Given the description of an element on the screen output the (x, y) to click on. 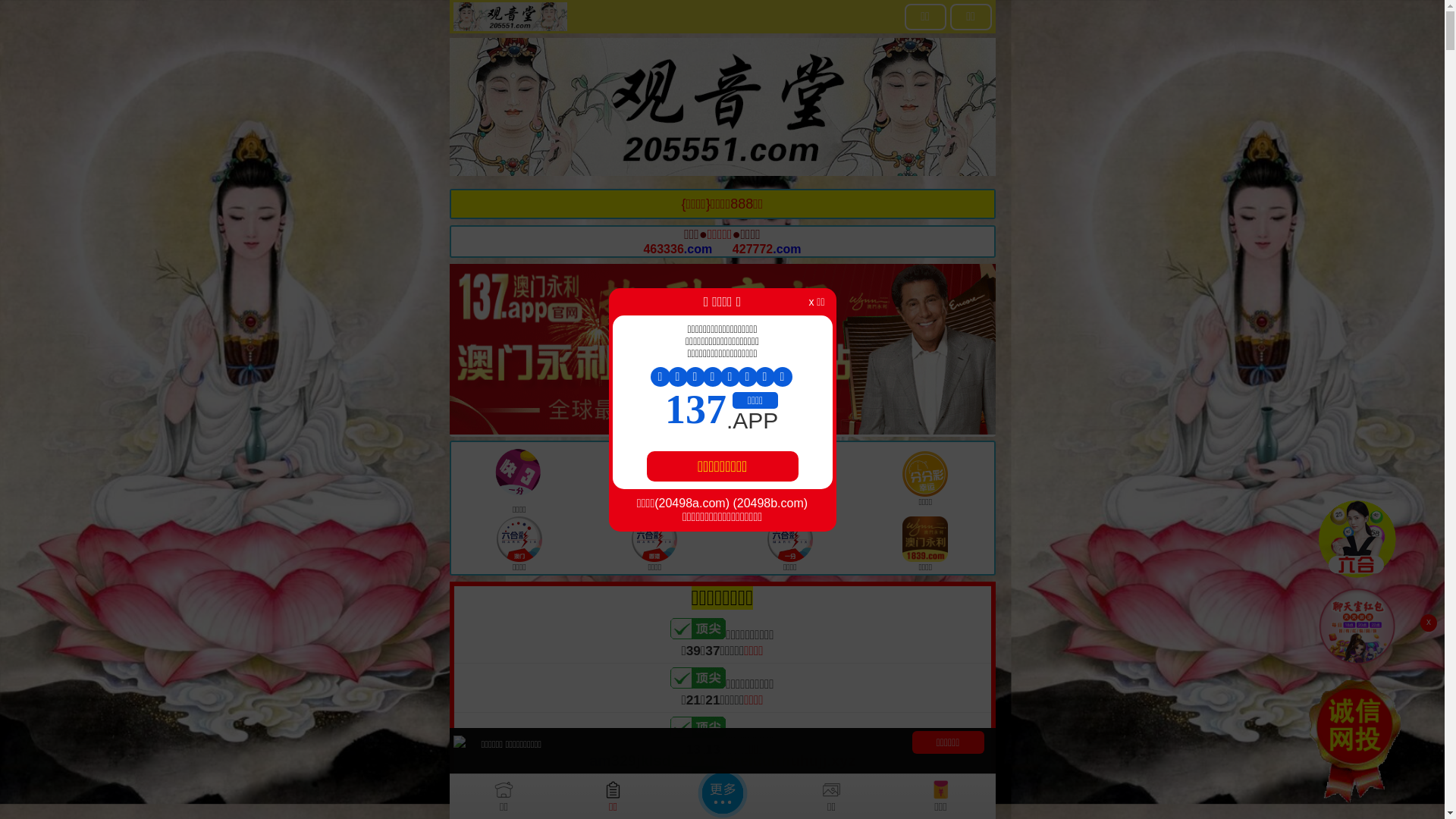
x Element type: text (1428, 622)
